Given the description of an element on the screen output the (x, y) to click on. 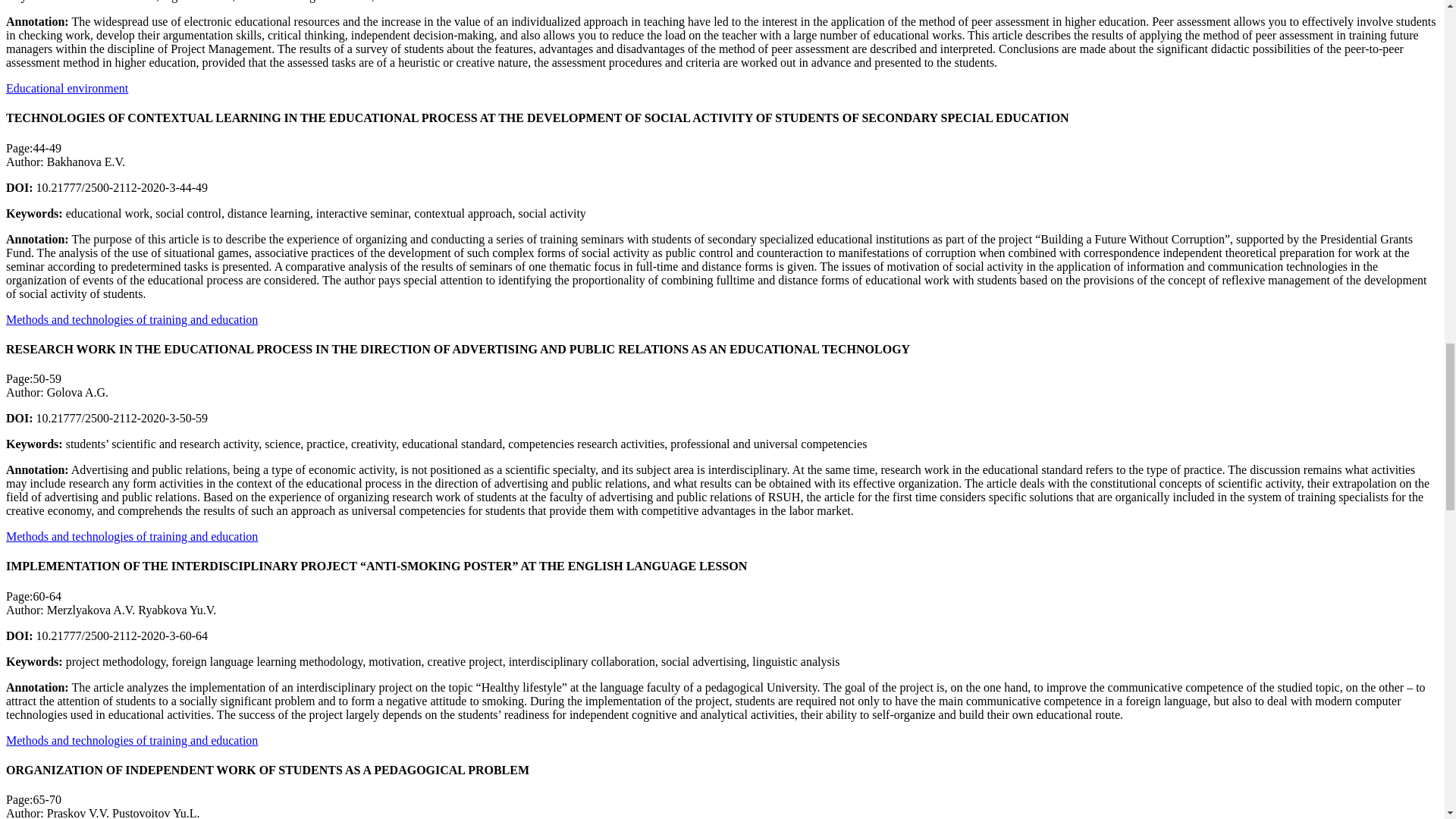
Methods and technologies of training and education (131, 535)
Methods and technologies of training and education (131, 318)
Methods and technologies of training and education (131, 739)
Educational environment (66, 88)
